Given the description of an element on the screen output the (x, y) to click on. 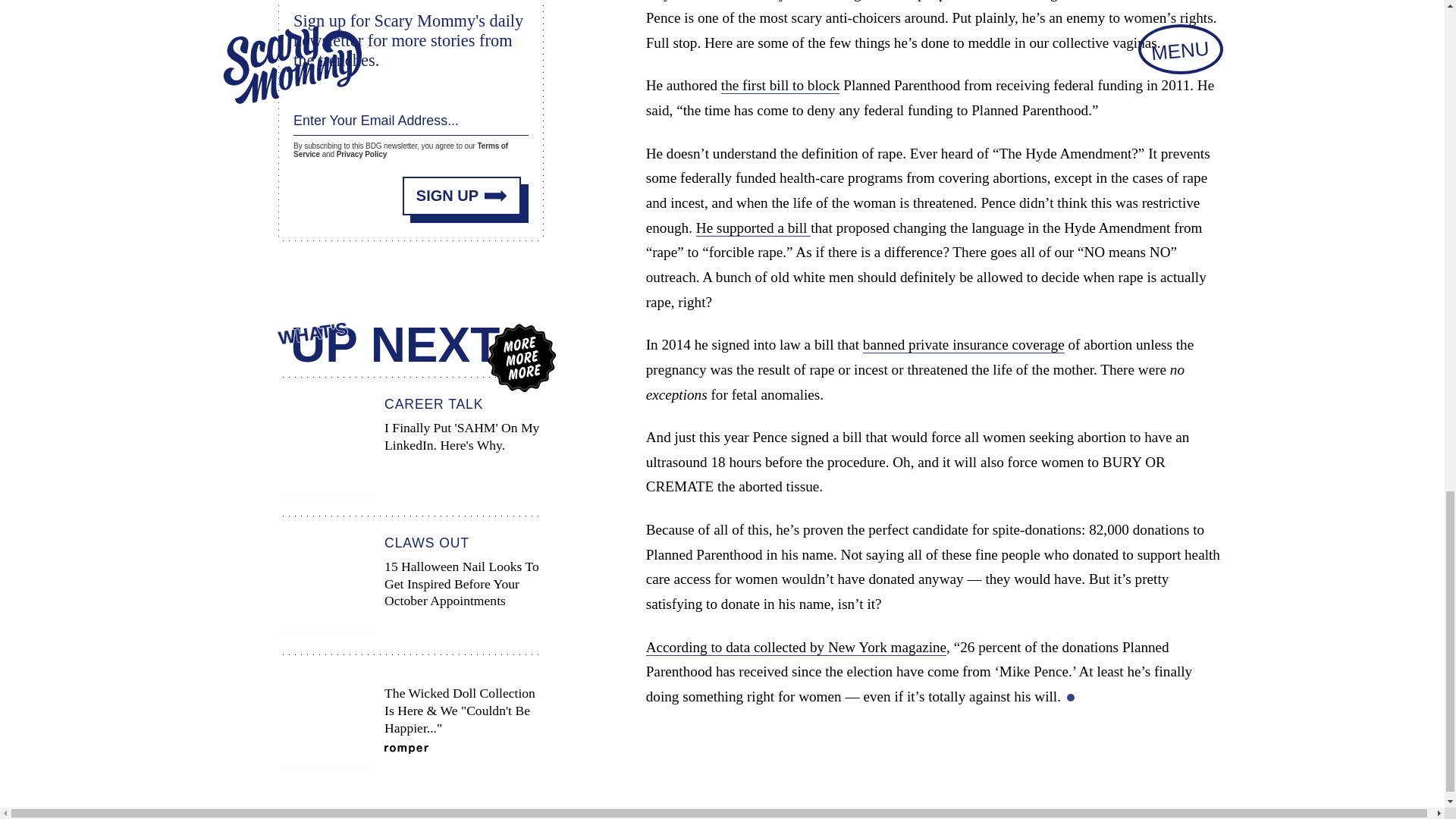
SIGN UP (462, 195)
banned private insurance coverage (963, 344)
the first bill to block (780, 85)
According to data collected by New York magazine (410, 445)
Terms of Service (796, 647)
He supported a bill (401, 149)
Privacy Policy (752, 228)
